Given the description of an element on the screen output the (x, y) to click on. 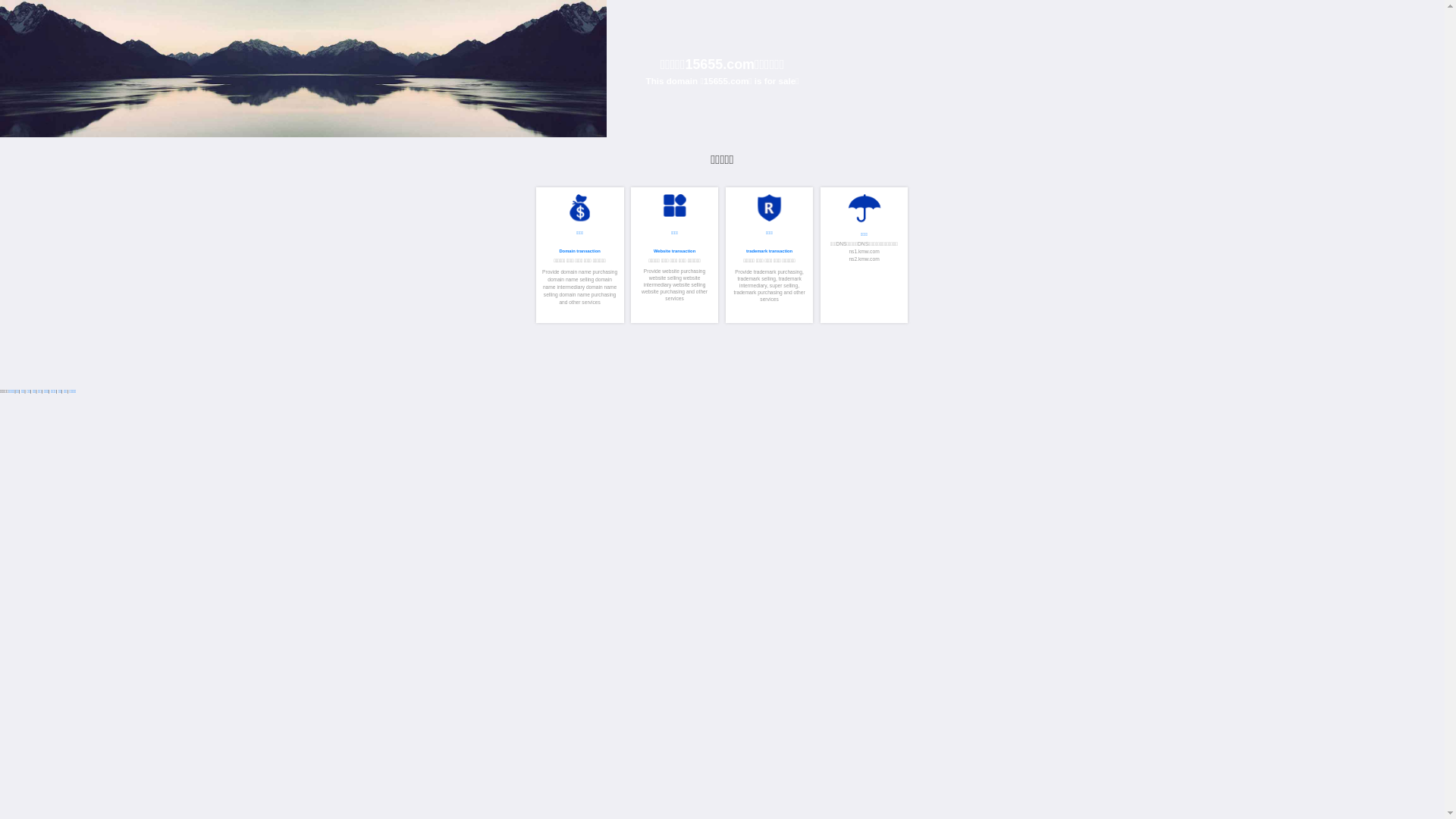
Domain transaction Element type: text (1391, 602)
